Given the description of an element on the screen output the (x, y) to click on. 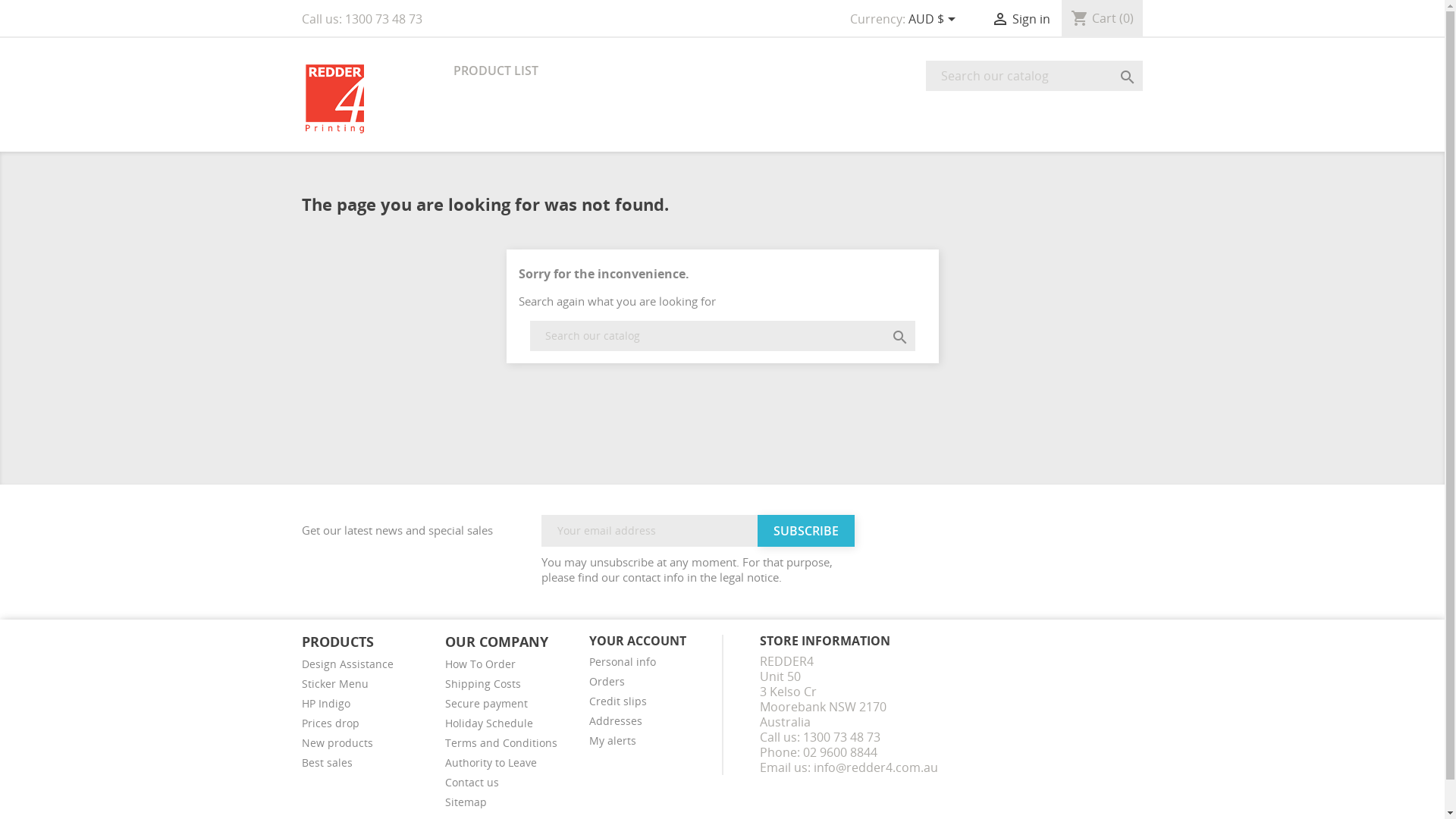
Orders Element type: text (606, 681)
Terms and Conditions Element type: text (501, 742)
PRODUCT LIST Element type: text (495, 71)
Shipping Costs Element type: text (482, 683)
Addresses Element type: text (615, 720)
Subscribe Element type: text (805, 530)
YOUR ACCOUNT Element type: text (637, 640)
New products Element type: text (337, 742)
Credit slips Element type: text (617, 700)
How To Order Element type: text (480, 663)
Sitemap Element type: text (465, 801)
Secure payment Element type: text (486, 703)
Best sales Element type: text (326, 762)
Personal info Element type: text (622, 661)
HP Indigo Element type: text (325, 703)
Sticker Menu Element type: text (334, 683)
Design Assistance Element type: text (347, 663)
Prices drop Element type: text (330, 722)
Contact us Element type: text (471, 782)
Holiday Schedule Element type: text (489, 722)
My alerts Element type: text (612, 740)
Authority to Leave Element type: text (490, 762)
